Given the description of an element on the screen output the (x, y) to click on. 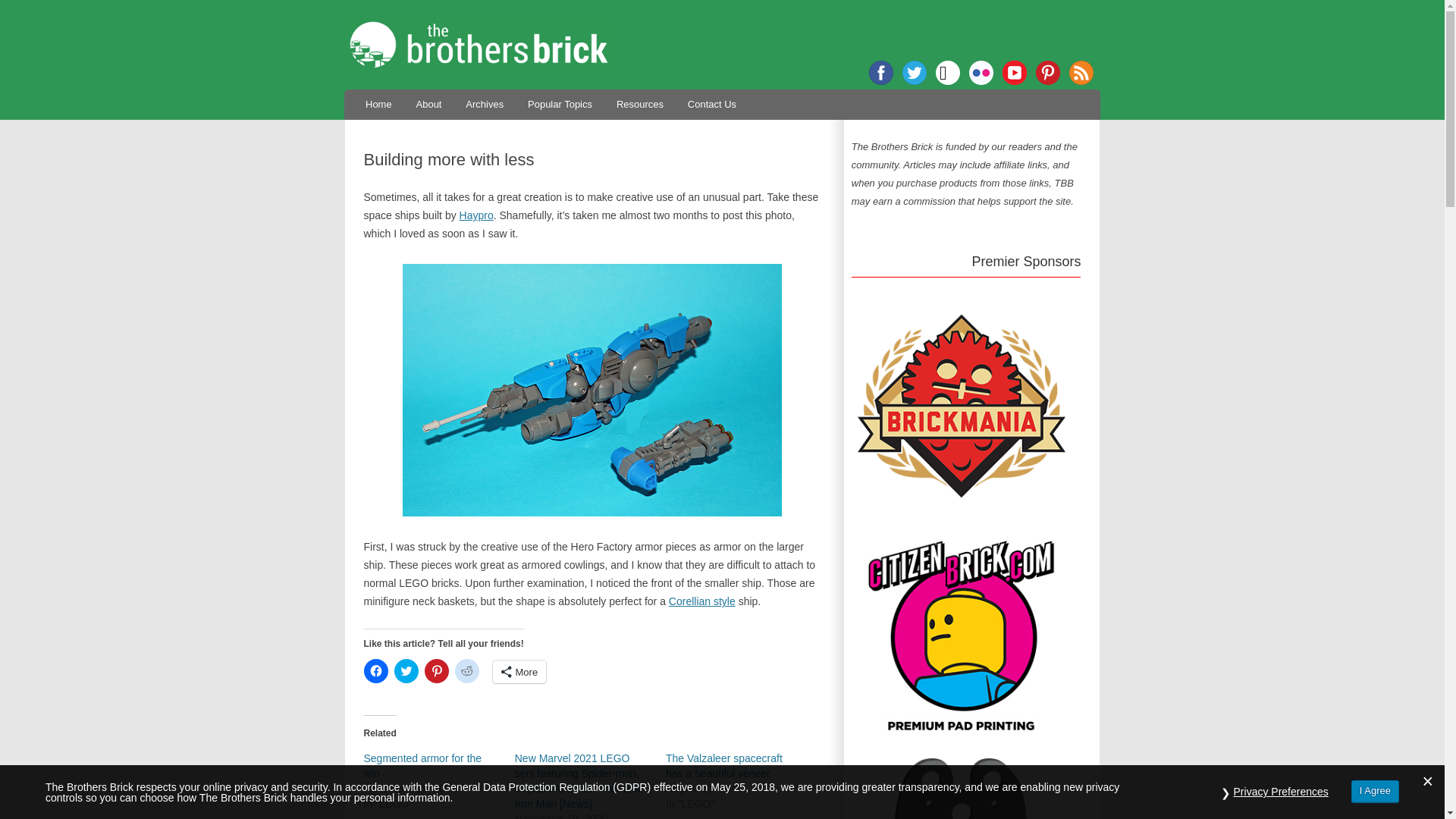
Click to share on Pinterest (436, 671)
Terran Heavy Frigate by Haypro, on Flickr (593, 390)
Twitter (914, 72)
RSS (1080, 72)
Skip to content (757, 94)
Skip to content (757, 94)
LEGO Resources (639, 103)
Pinterest (1047, 72)
Home (378, 103)
RSS (1080, 72)
